Given the description of an element on the screen output the (x, y) to click on. 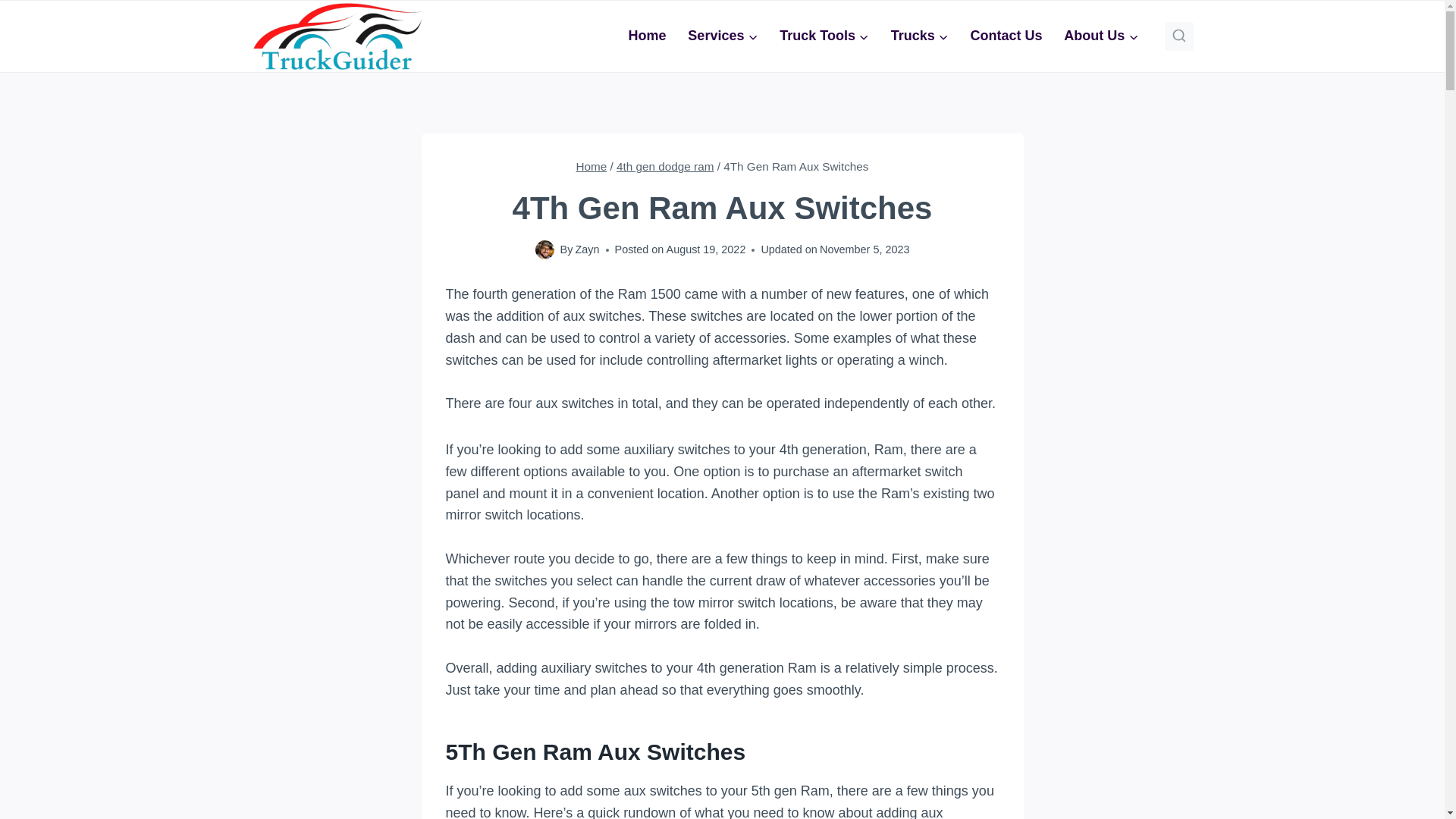
Home (591, 165)
Truck Tools (823, 36)
About Us (1101, 36)
Trucks (919, 36)
Contact Us (1005, 36)
Home (647, 36)
Zayn (587, 249)
4th gen dodge ram (664, 165)
Services (722, 36)
